Given the description of an element on the screen output the (x, y) to click on. 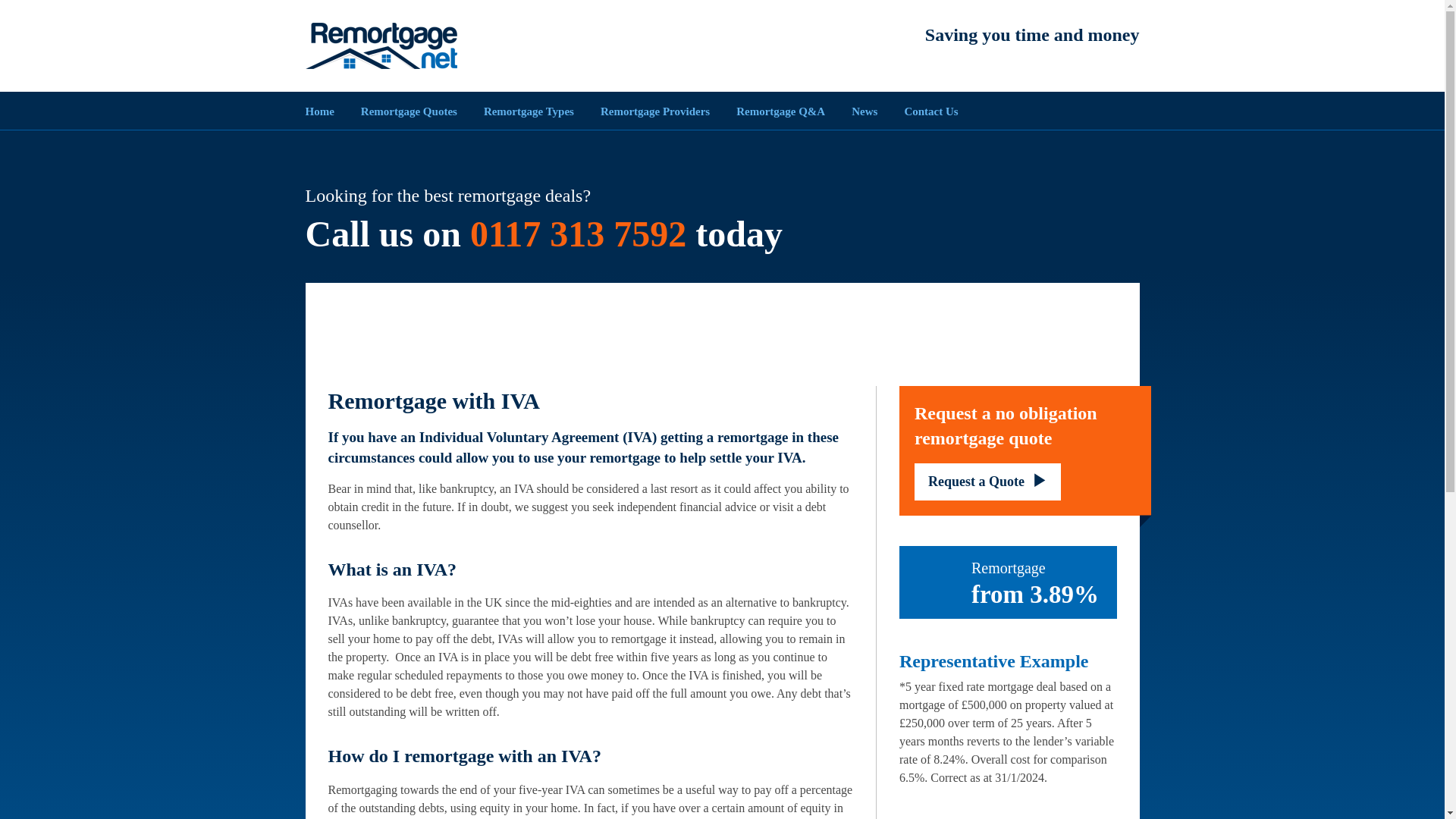
Remortgage Quotes (409, 110)
Remortgage Providers (654, 110)
Remortgage Net (380, 45)
Remortgage Types (528, 110)
